Given the description of an element on the screen output the (x, y) to click on. 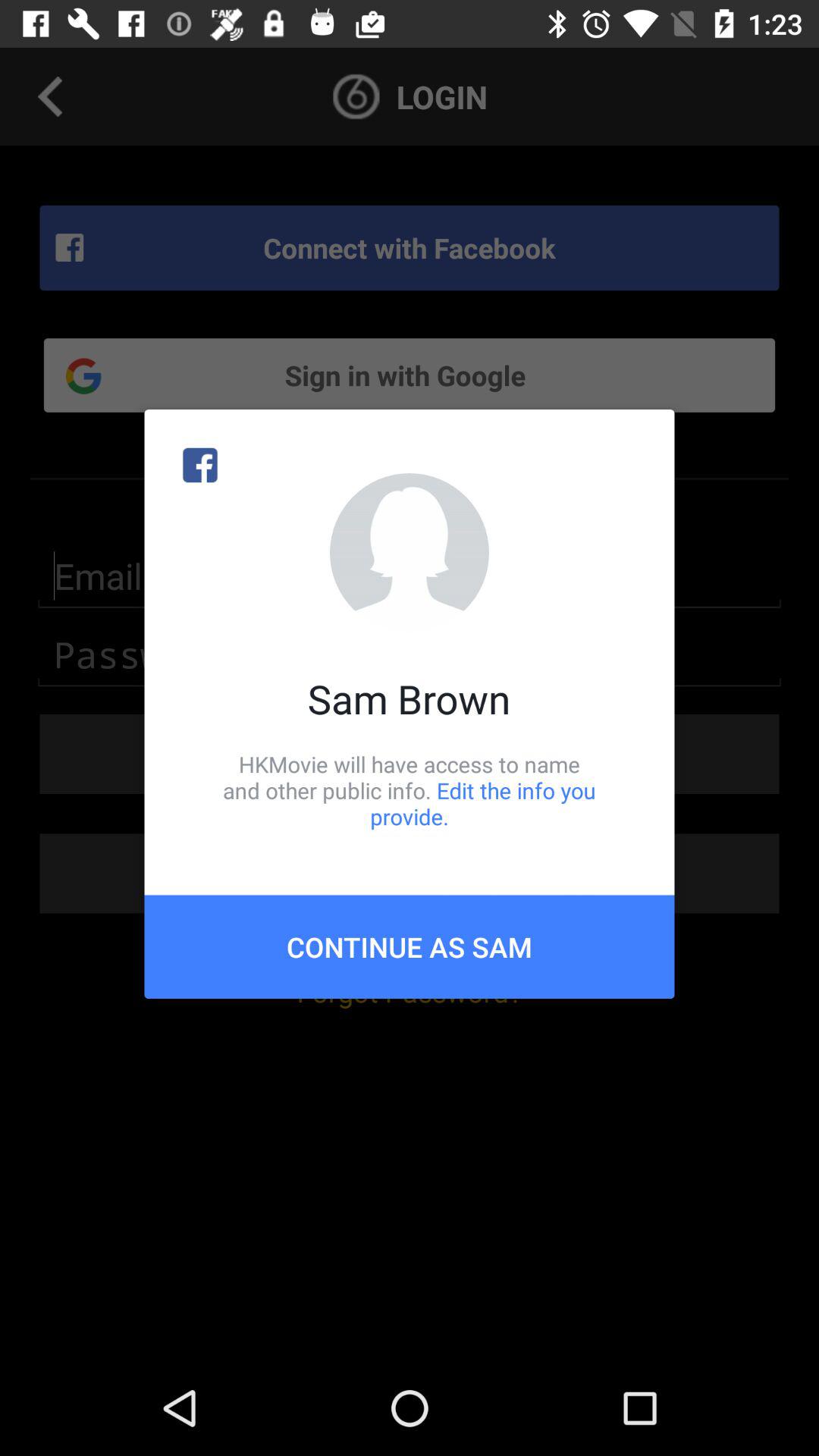
launch icon above the continue as sam icon (409, 790)
